Given the description of an element on the screen output the (x, y) to click on. 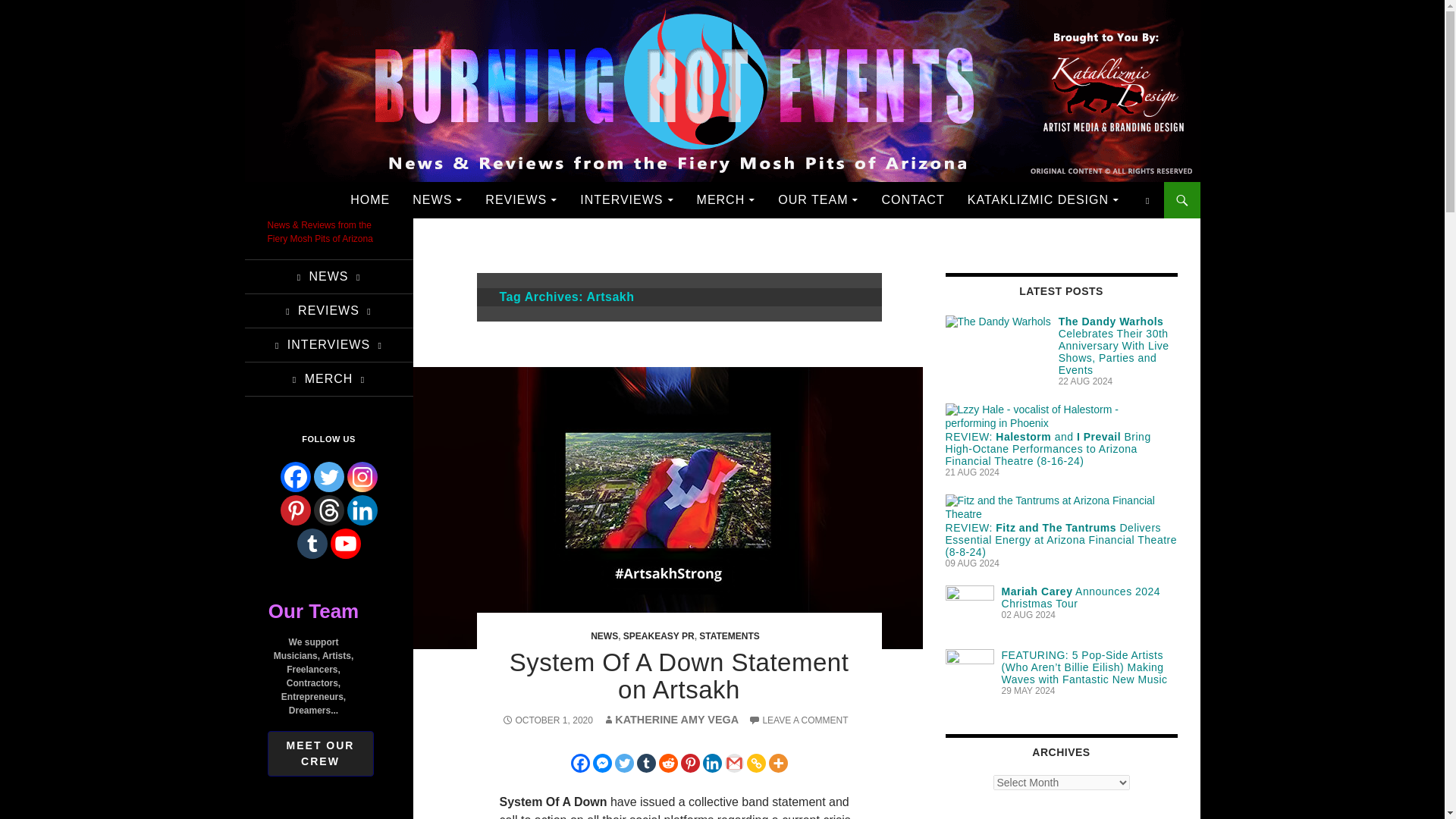
CONTACT (911, 199)
Instagram (362, 476)
Threads (328, 510)
Google Gmail (734, 763)
KATAKLIZMIC DESIGN (1042, 199)
Reddit (667, 763)
Twitter (328, 476)
INTERVIEWS (625, 199)
